Given the description of an element on the screen output the (x, y) to click on. 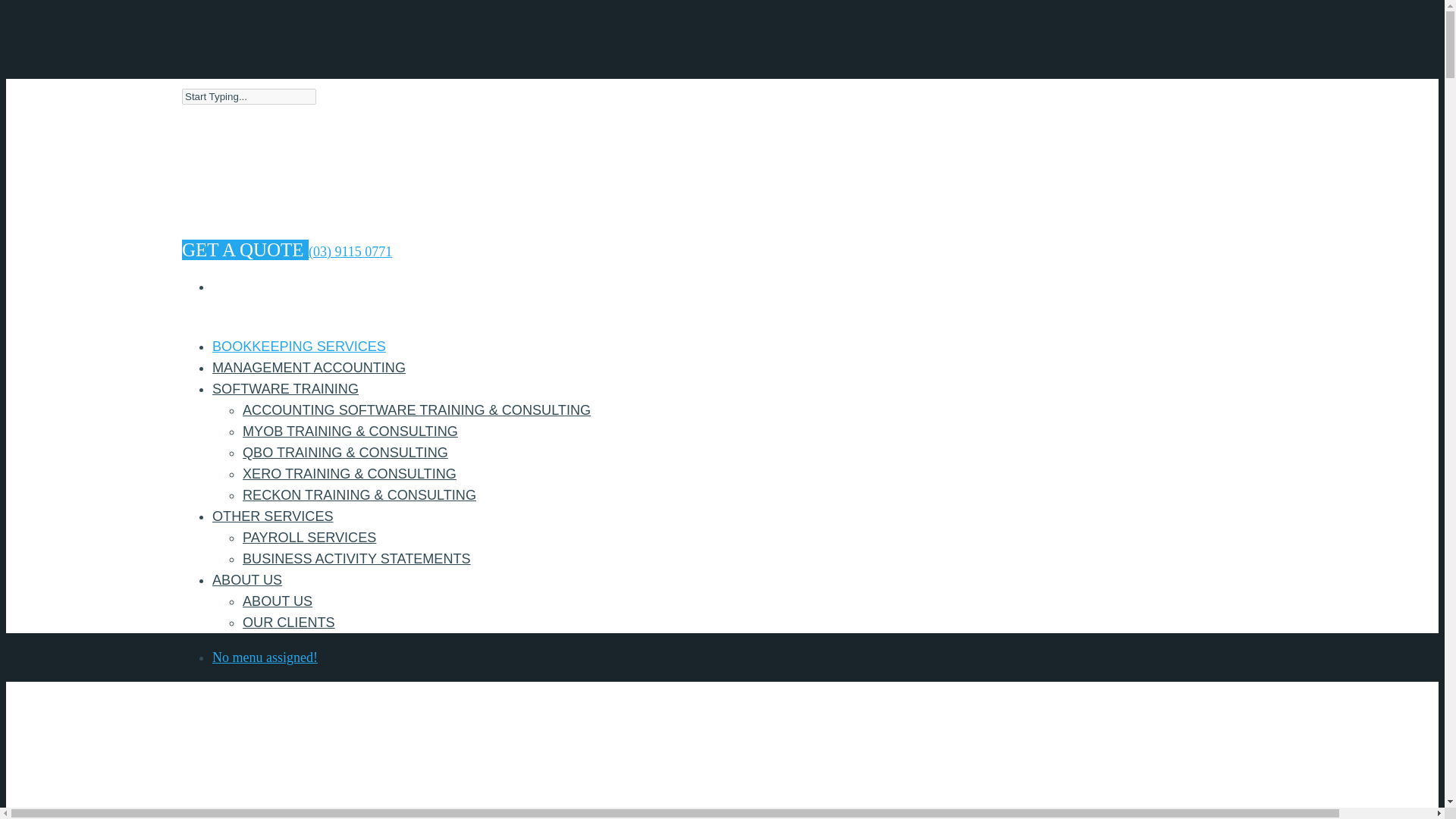
OTHER SERVICES (272, 519)
ABOUT US (278, 601)
SOFTWARE TRAINING (285, 391)
BOOKKEEPING SERVICES (298, 349)
MANAGEMENT ACCOUNTING (309, 370)
PAYROLL SERVICES (309, 537)
ABOUT US (247, 582)
No menu assigned! (264, 657)
Start Typing... (248, 96)
GET A QUOTE (245, 249)
